Given the description of an element on the screen output the (x, y) to click on. 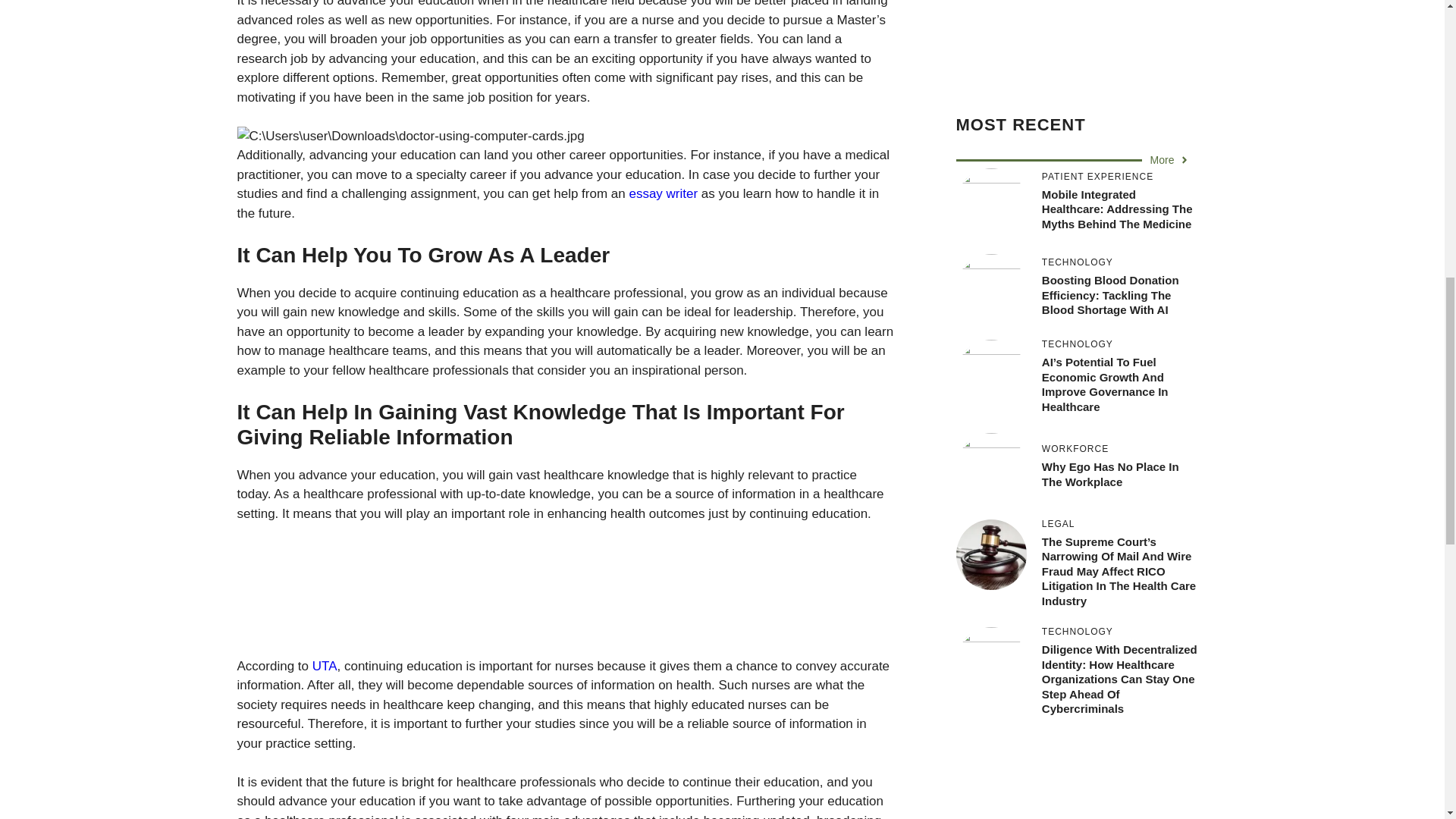
essay writer (662, 193)
UTA (325, 666)
